Given the description of an element on the screen output the (x, y) to click on. 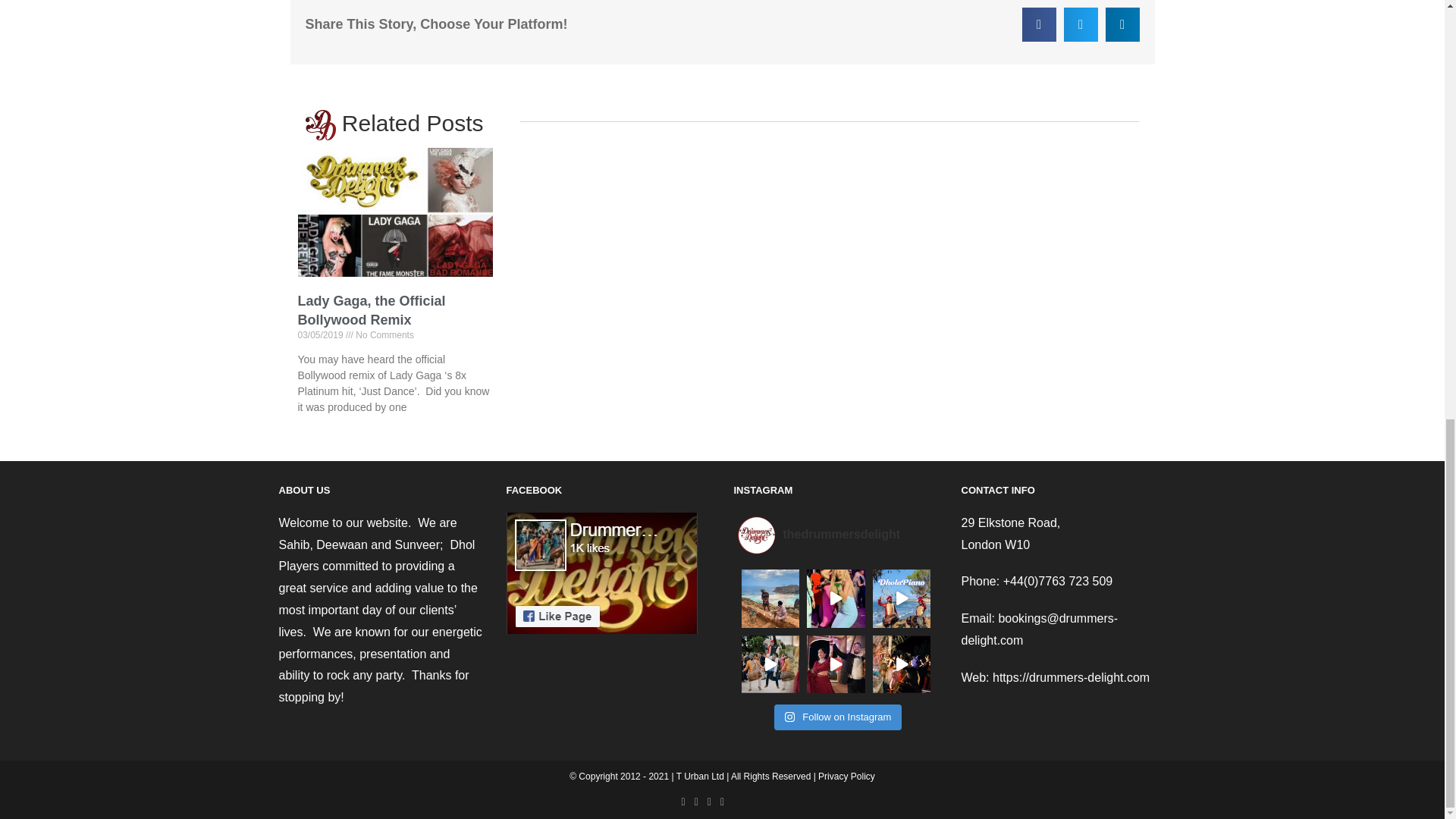
Privacy Policy (846, 776)
thedrummersdelight (835, 535)
Follow on Instagram (838, 717)
Lady Gaga, the Official Bollywood Remix (371, 310)
